Given the description of an element on the screen output the (x, y) to click on. 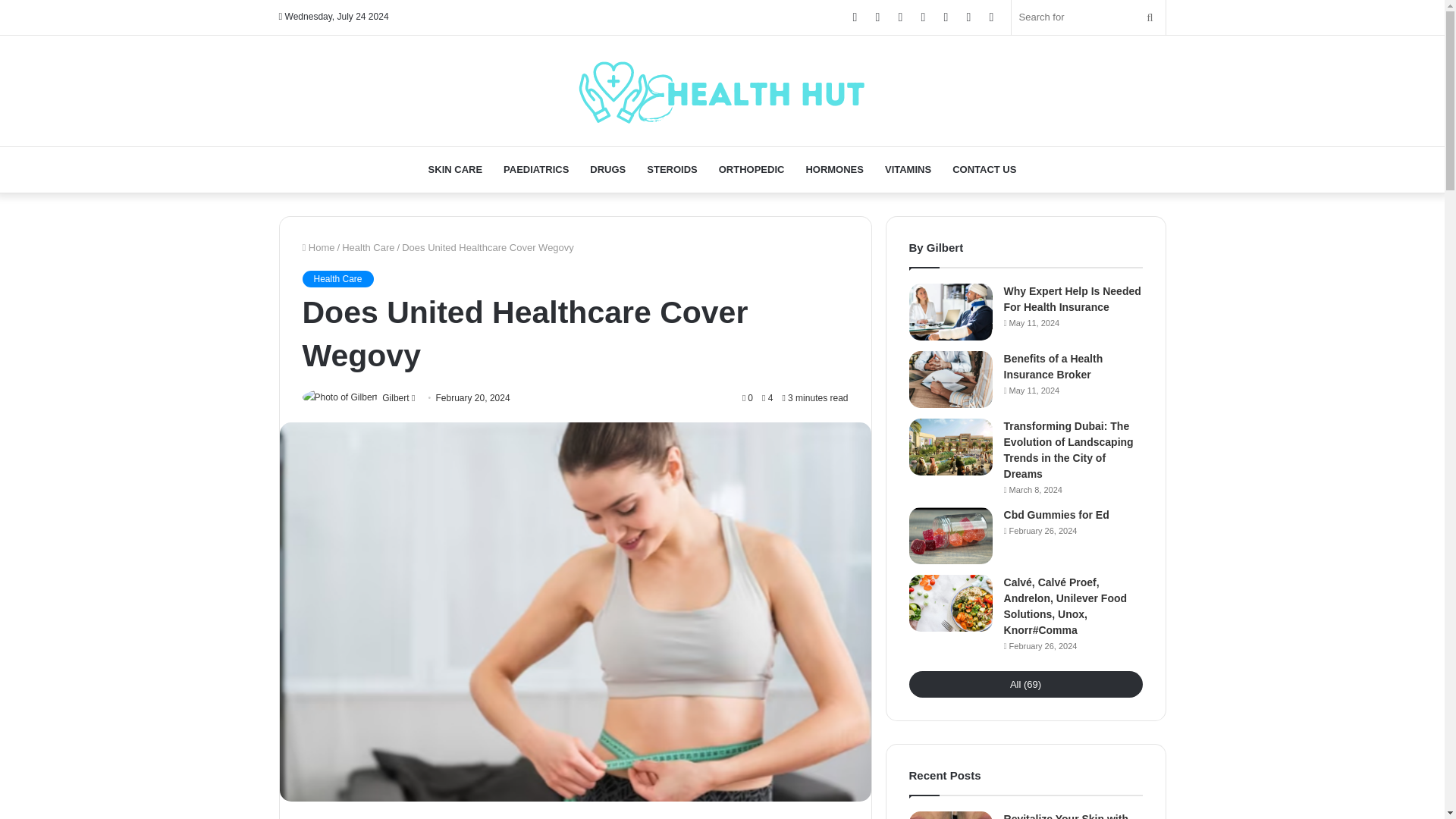
ORTHOPEDIC (750, 169)
HORMONES (834, 169)
SKIN CARE (455, 169)
DRUGS (607, 169)
Health Care (336, 278)
Health Care (368, 246)
STEROIDS (671, 169)
CONTACT US (984, 169)
eHealth Hut (722, 89)
PAEDIATRICS (536, 169)
VITAMINS (908, 169)
Search for (1088, 17)
Home (317, 246)
